Given the description of an element on the screen output the (x, y) to click on. 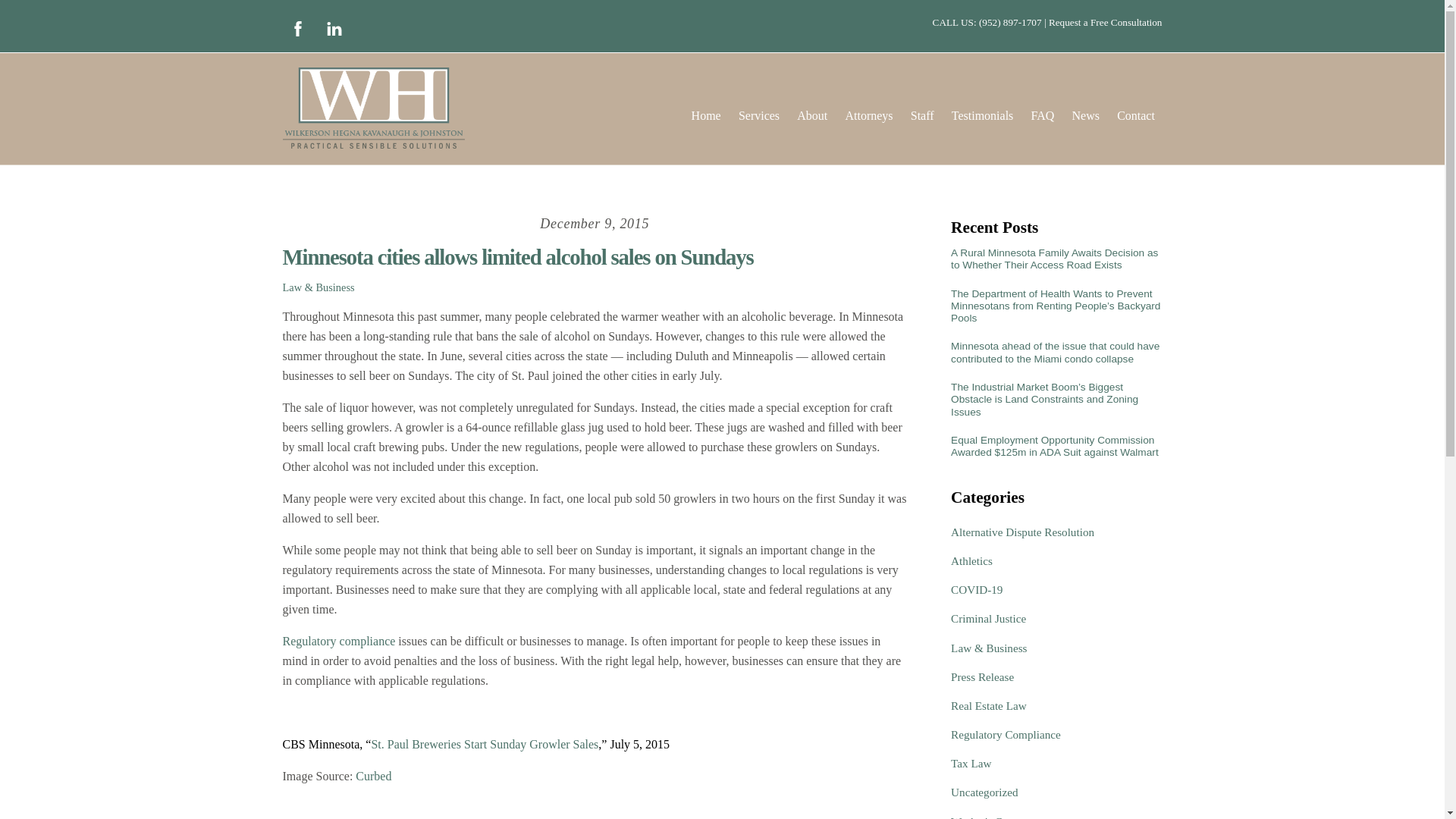
FAQ (1042, 115)
Regulatory compliance (338, 640)
Contact (1135, 115)
News (1085, 115)
Request a Free Consultation (1104, 21)
Home (706, 115)
About (812, 115)
St. Paul Breweries Start Sunday Growler Sales (484, 744)
Staff (921, 115)
